Given the description of an element on the screen output the (x, y) to click on. 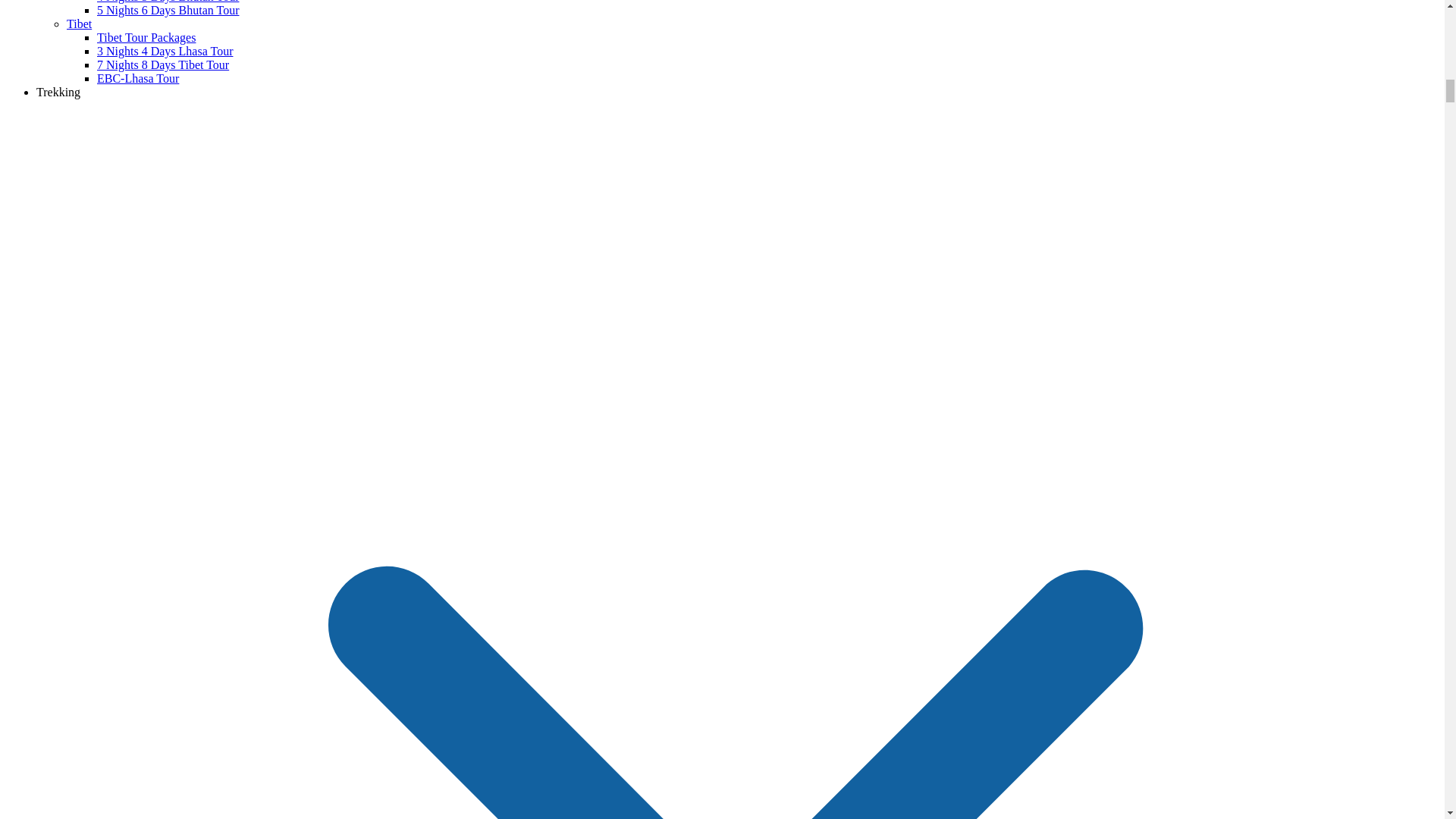
5 Nights 6 Days Bhutan Tour (167, 10)
EBC-Lhasa Tour (138, 78)
4 Nights 5 Days Bhutan Tour (167, 1)
Tibet (78, 23)
3 Nights 4 Days Lhasa Tour (164, 51)
7 Nights 8 Days Tibet Tour (162, 64)
Tibet Tour Packages (146, 37)
